Given the description of an element on the screen output the (x, y) to click on. 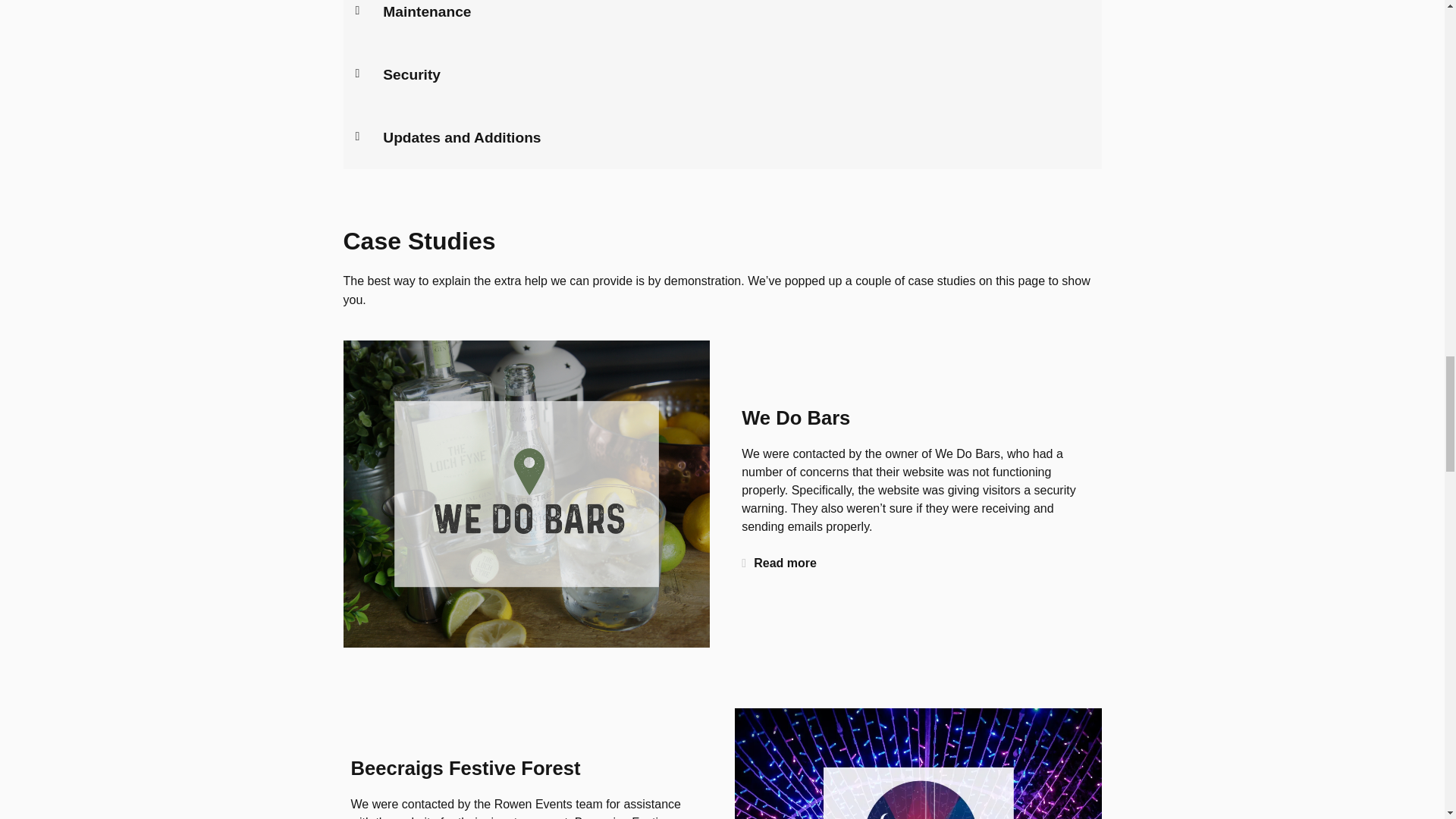
Updates and Additions (461, 137)
Maintenance (426, 11)
Security (411, 74)
Read more (785, 562)
